Given the description of an element on the screen output the (x, y) to click on. 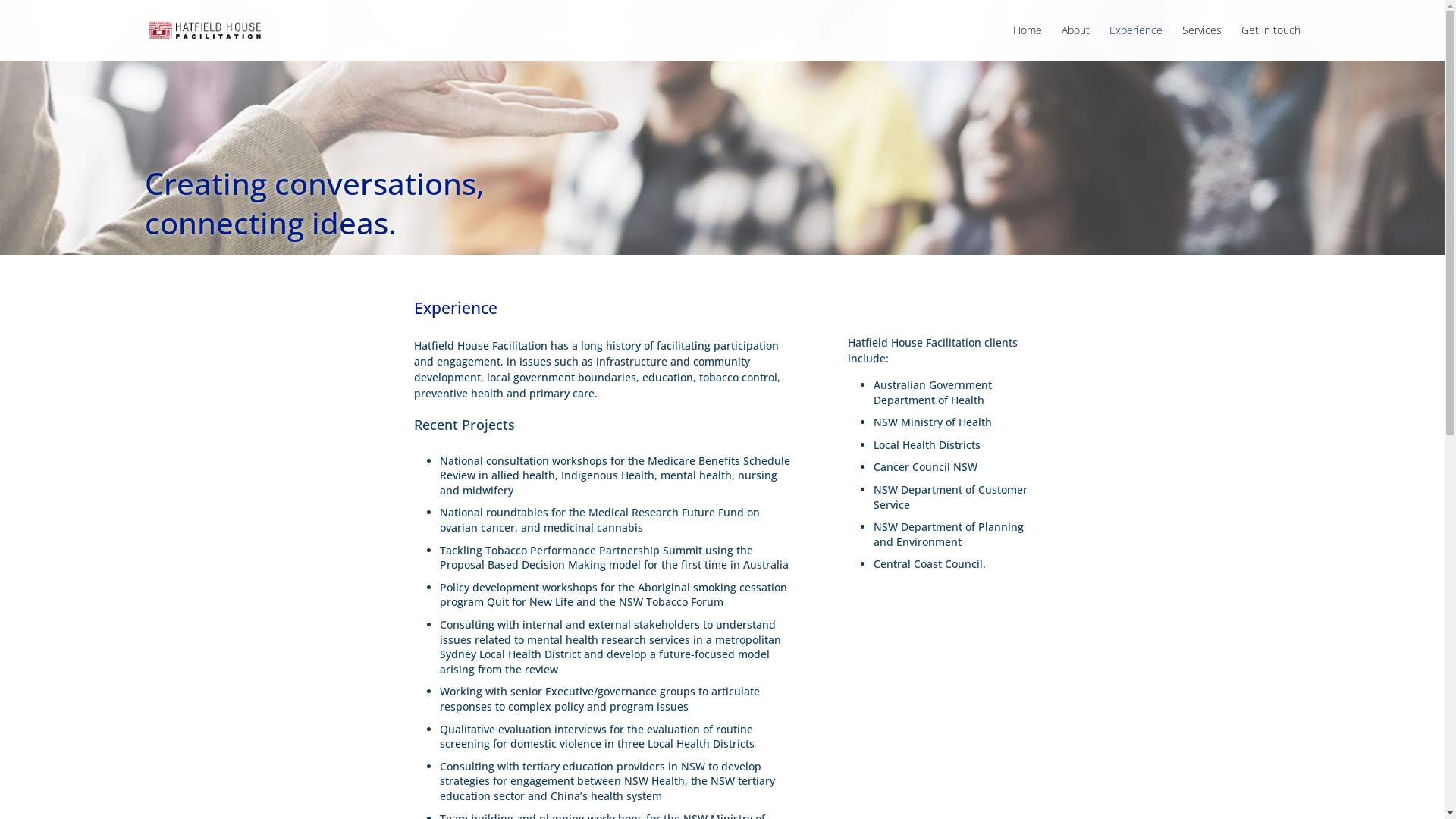
Services Element type: text (1200, 42)
Home Element type: text (1027, 42)
Get in touch Element type: text (1269, 42)
Experience Element type: text (1134, 42)
About Element type: text (1075, 42)
